Given the description of an element on the screen output the (x, y) to click on. 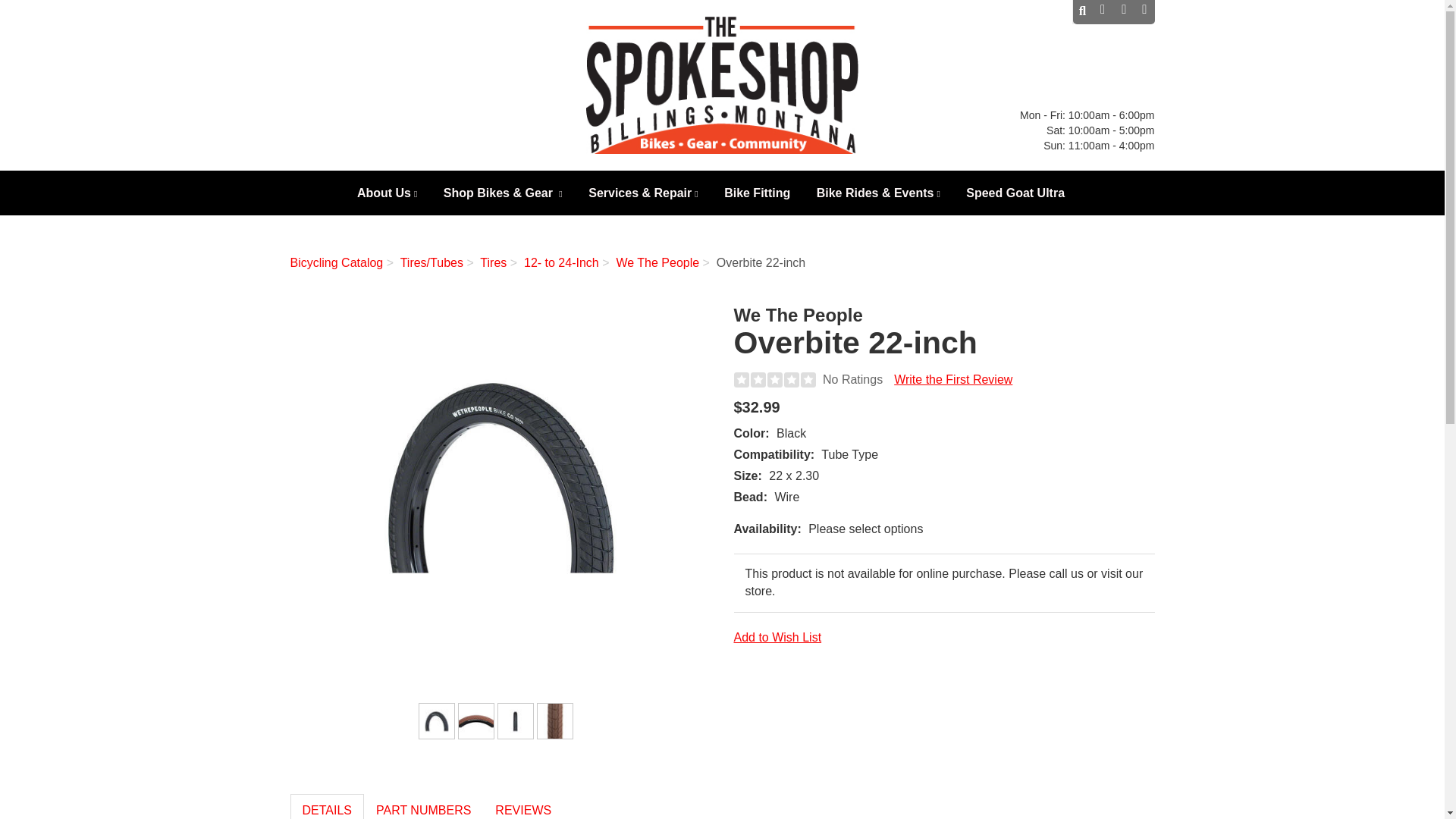
Search (1101, 12)
We The People Overbite 22-inch (1072, 12)
About Us (500, 476)
Color: Black (387, 196)
Cart (436, 720)
Account (1143, 12)
Search (1101, 12)
Stores (1083, 12)
The Spoke Shop Home Page (1123, 12)
